Given the description of an element on the screen output the (x, y) to click on. 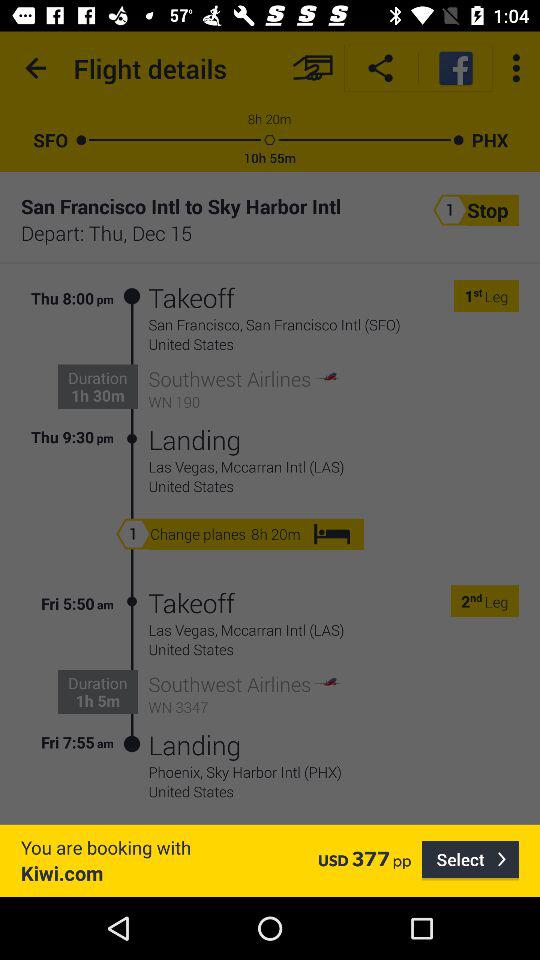
launch the icon to the right of flight details item (312, 67)
